Given the description of an element on the screen output the (x, y) to click on. 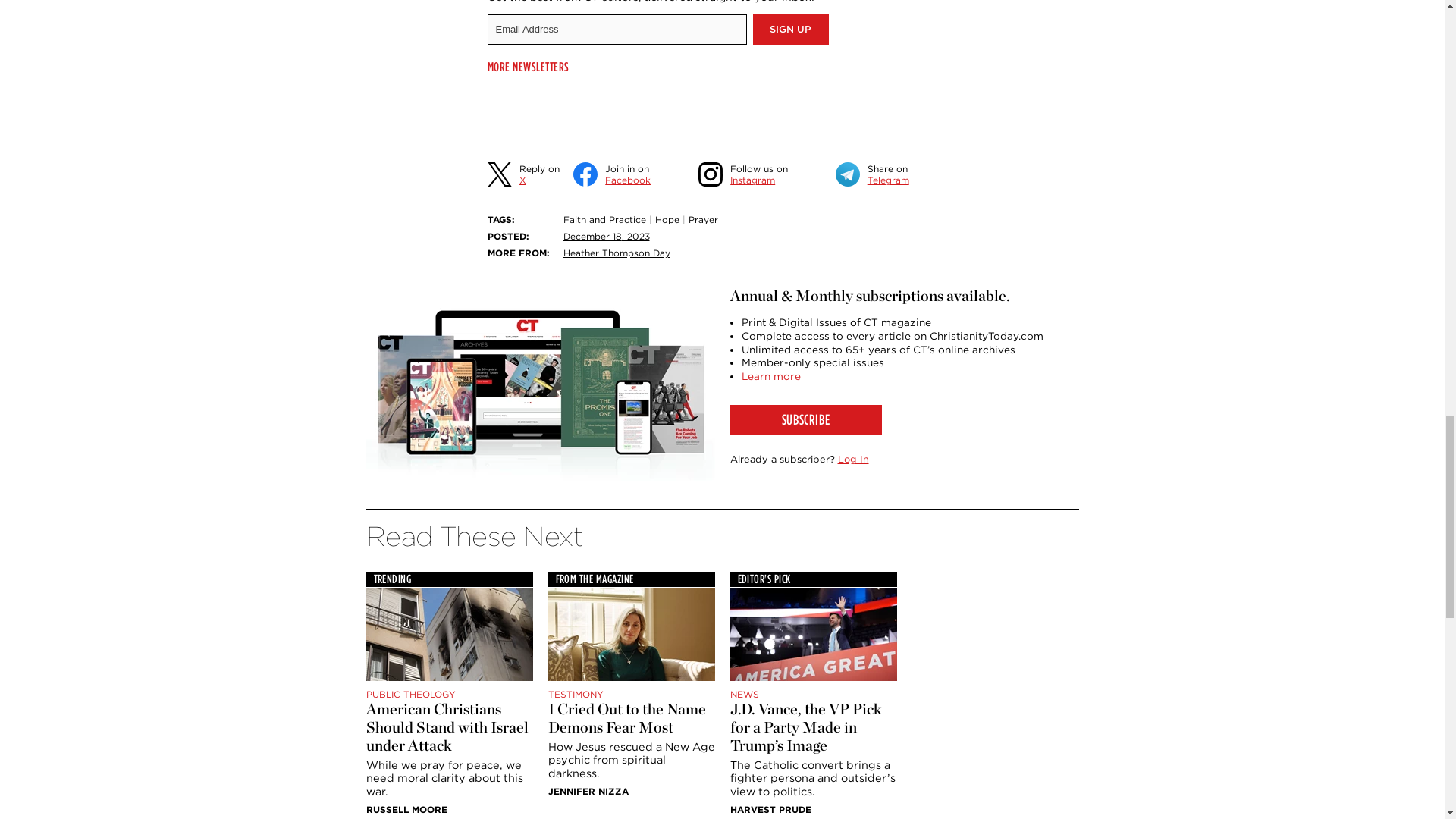
Email Address (615, 29)
X (498, 174)
Sign Up (790, 29)
